Given the description of an element on the screen output the (x, y) to click on. 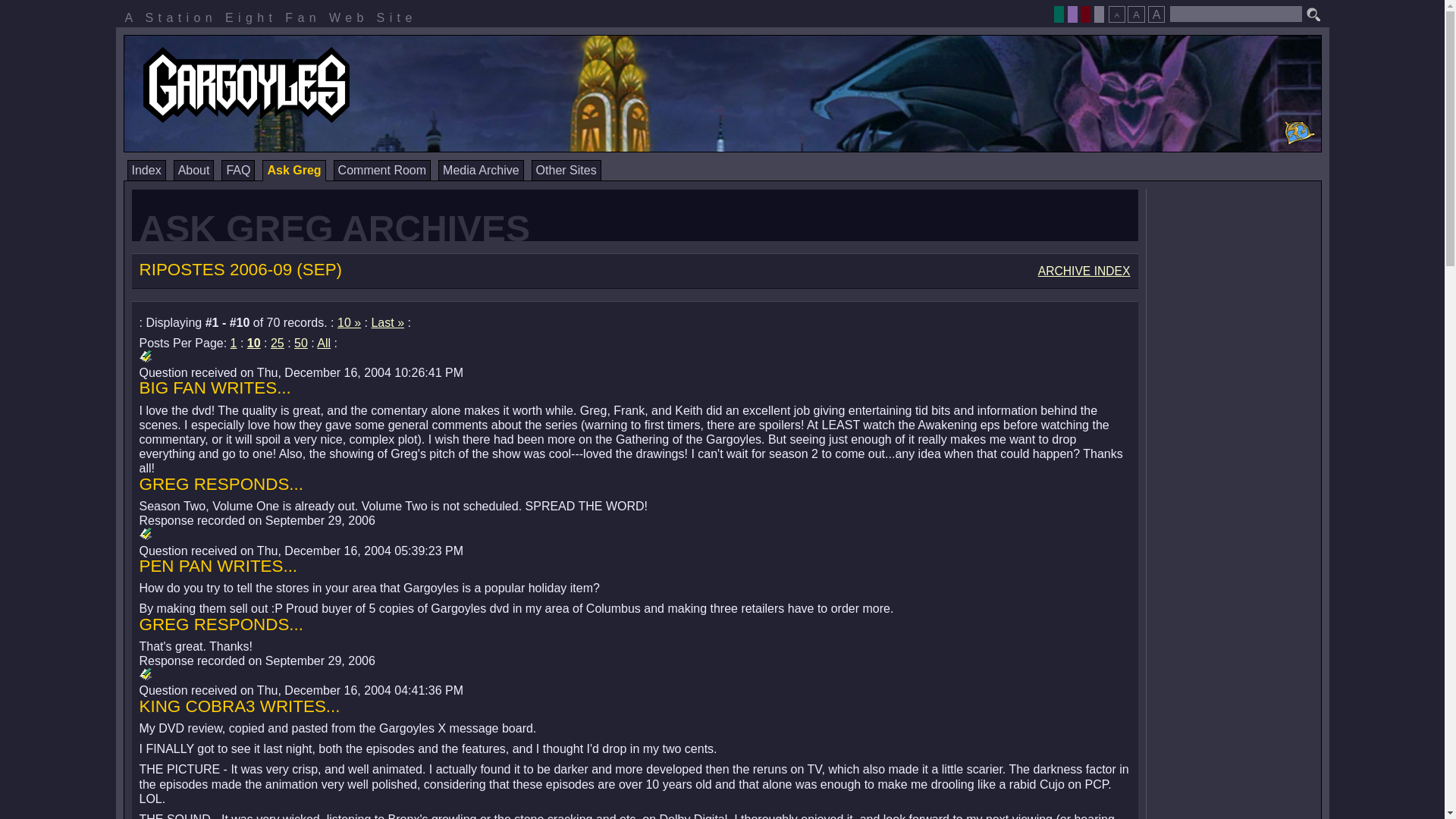
ARCHIVE INDEX (1084, 270)
About (193, 169)
Comment Room (381, 169)
FAQ (237, 169)
A (1156, 13)
A (1135, 13)
Standard Font Size (1135, 13)
10 (253, 342)
Other Sites (566, 169)
25 (276, 342)
